Given the description of an element on the screen output the (x, y) to click on. 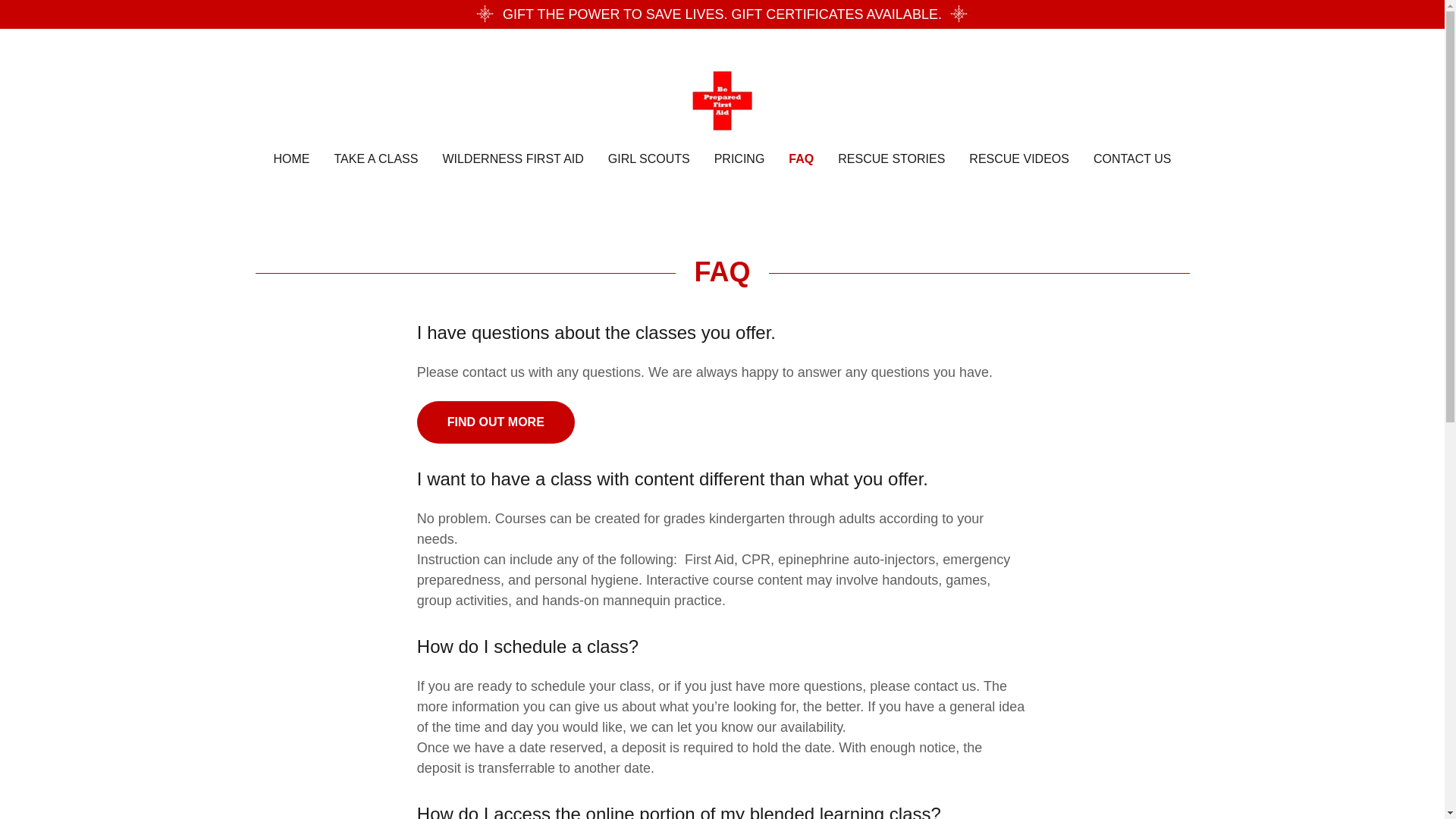
FIND OUT MORE (495, 422)
TAKE A CLASS (376, 158)
RESCUE STORIES (890, 158)
FAQ (801, 158)
GIRL SCOUTS (649, 158)
CONTACT US (1132, 158)
PRICING (740, 158)
Be Prepared First Aid (722, 100)
RESCUE VIDEOS (1018, 158)
WILDERNESS FIRST AID (513, 158)
HOME (291, 158)
